Given the description of an element on the screen output the (x, y) to click on. 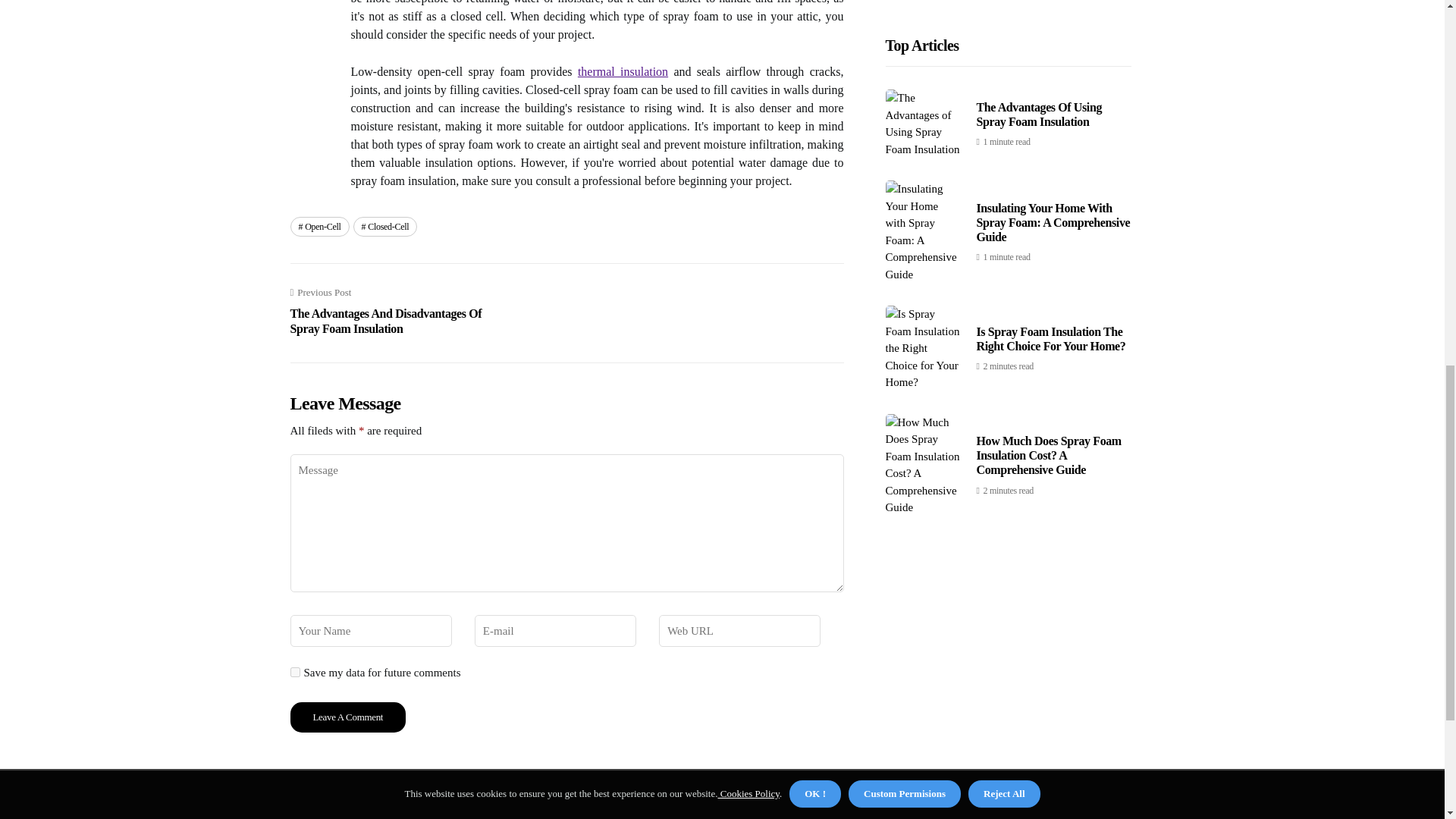
Is Spray Foam Insulation The Right Choice For Your Home? (1050, 35)
Leave a Comment (347, 716)
Closed-Cell (385, 226)
yes (294, 672)
thermal insulation (623, 71)
Leave a Comment (347, 716)
Open-Cell (319, 226)
